Given the description of an element on the screen output the (x, y) to click on. 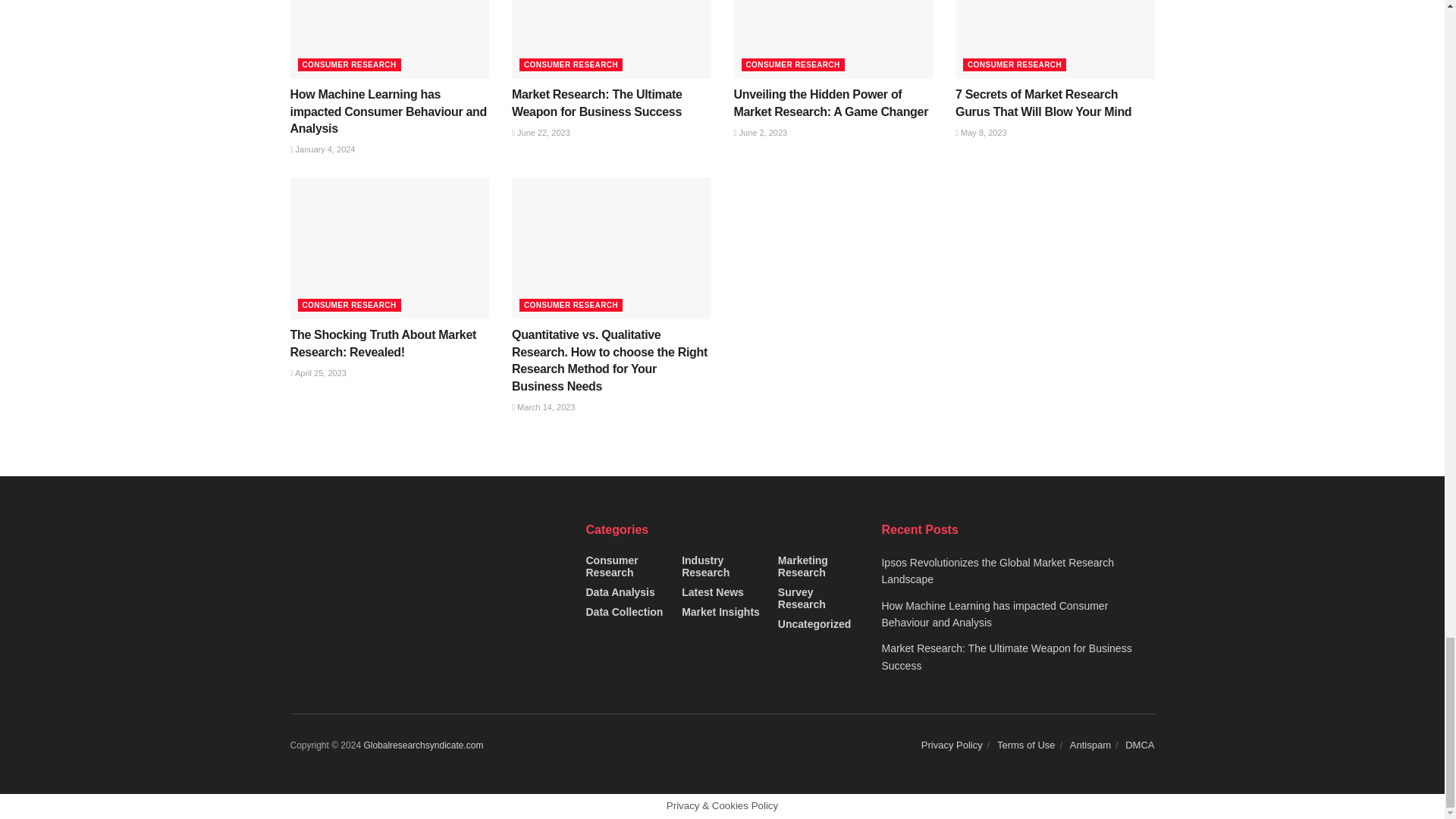
globalresearchsyndicate.com (422, 745)
